Given the description of an element on the screen output the (x, y) to click on. 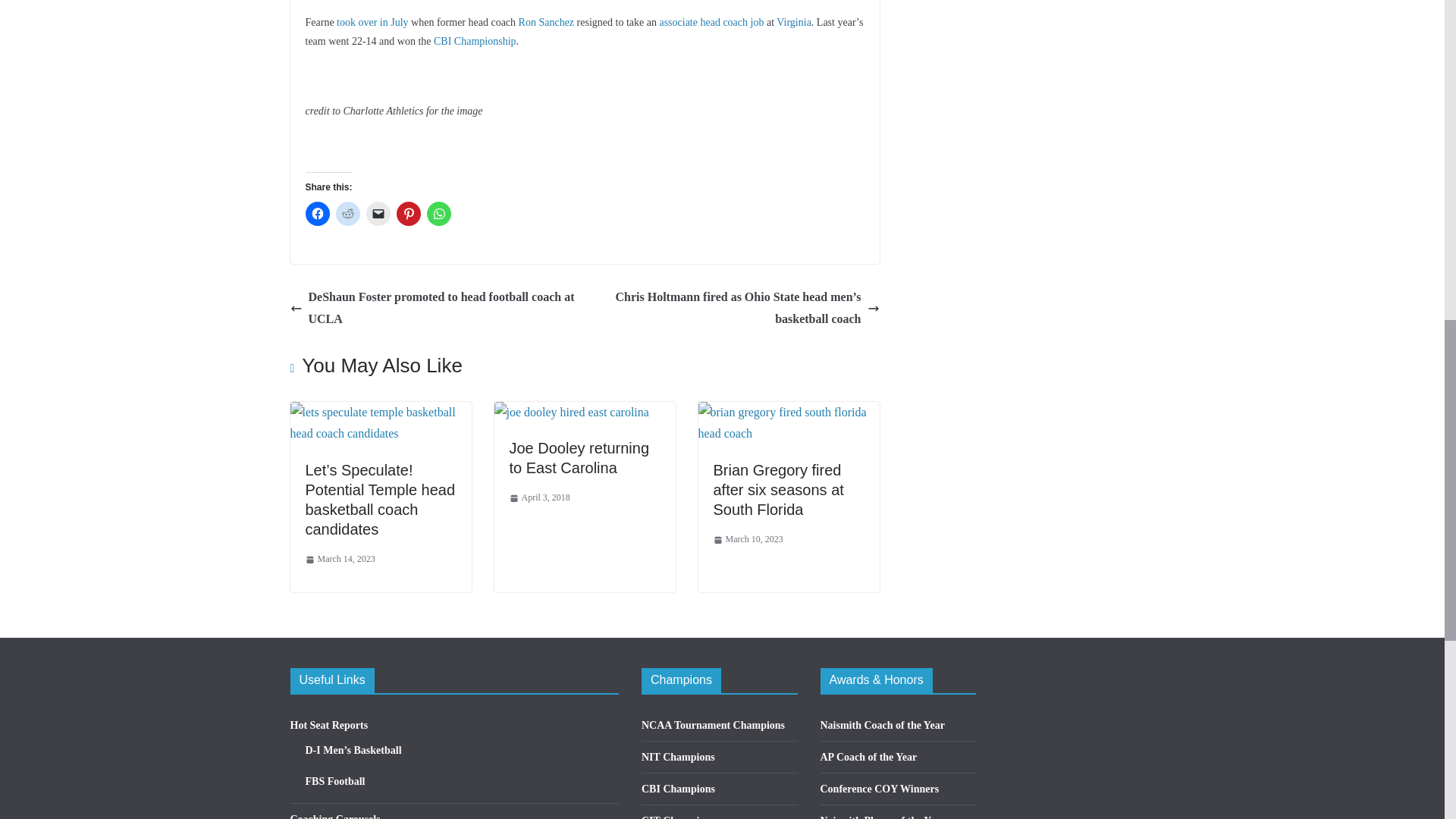
Click to share on Reddit (346, 213)
Click to share on Pinterest (408, 213)
7:34 am (339, 559)
Click to share on Facebook (316, 213)
Click to share on WhatsApp (437, 213)
Click to email a link to a friend (377, 213)
